Given the description of an element on the screen output the (x, y) to click on. 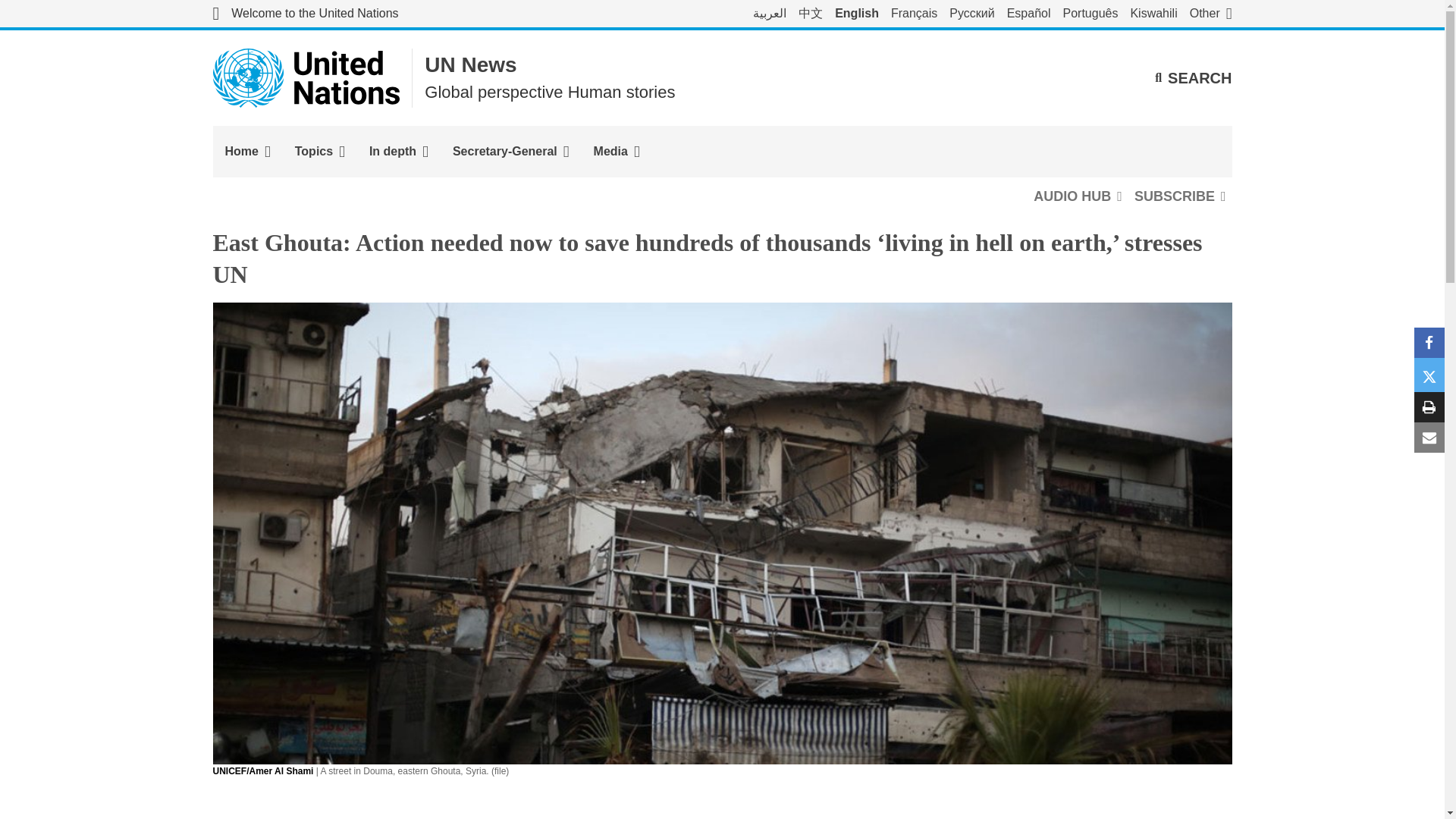
English (856, 13)
Topics (319, 151)
Welcome to the United Nations (304, 13)
UN News (470, 64)
United Nations (305, 76)
United Nations (304, 13)
Other (1210, 13)
UN News (470, 64)
Home (247, 151)
Kiswahili (1152, 13)
SEARCH (1192, 77)
Home (247, 151)
